Given the description of an element on the screen output the (x, y) to click on. 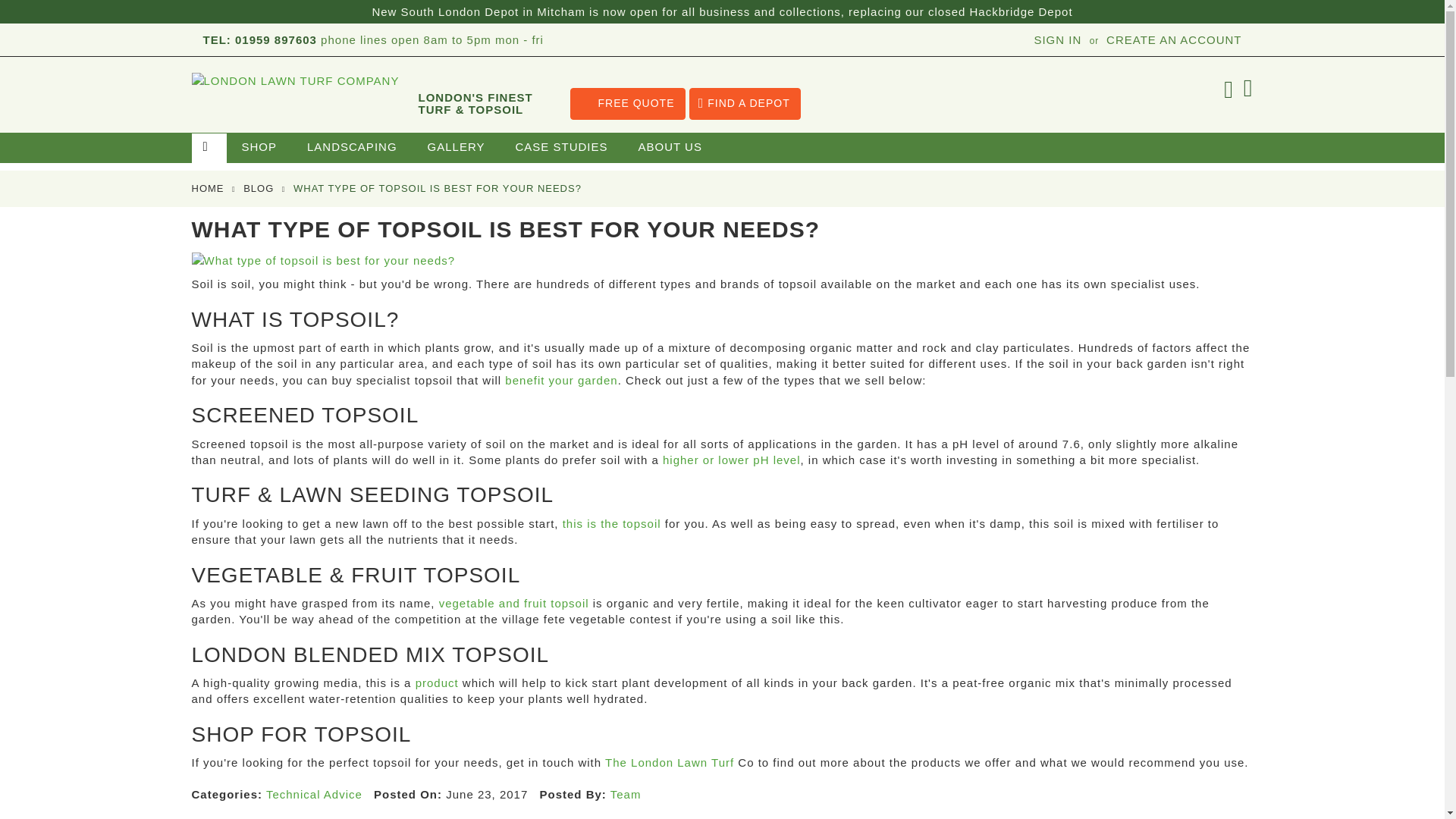
What type of topsoil is best for your needs? (322, 260)
London Lawn Turf Company (296, 121)
CREATE AN ACCOUNT (1173, 39)
Blog (258, 188)
FIND A DEPOT (744, 103)
Go to Home Page (207, 188)
FREE QUOTE (627, 103)
SHOP (258, 147)
TEL: 01959 897603 (260, 39)
SIGN IN (1057, 39)
